Given the description of an element on the screen output the (x, y) to click on. 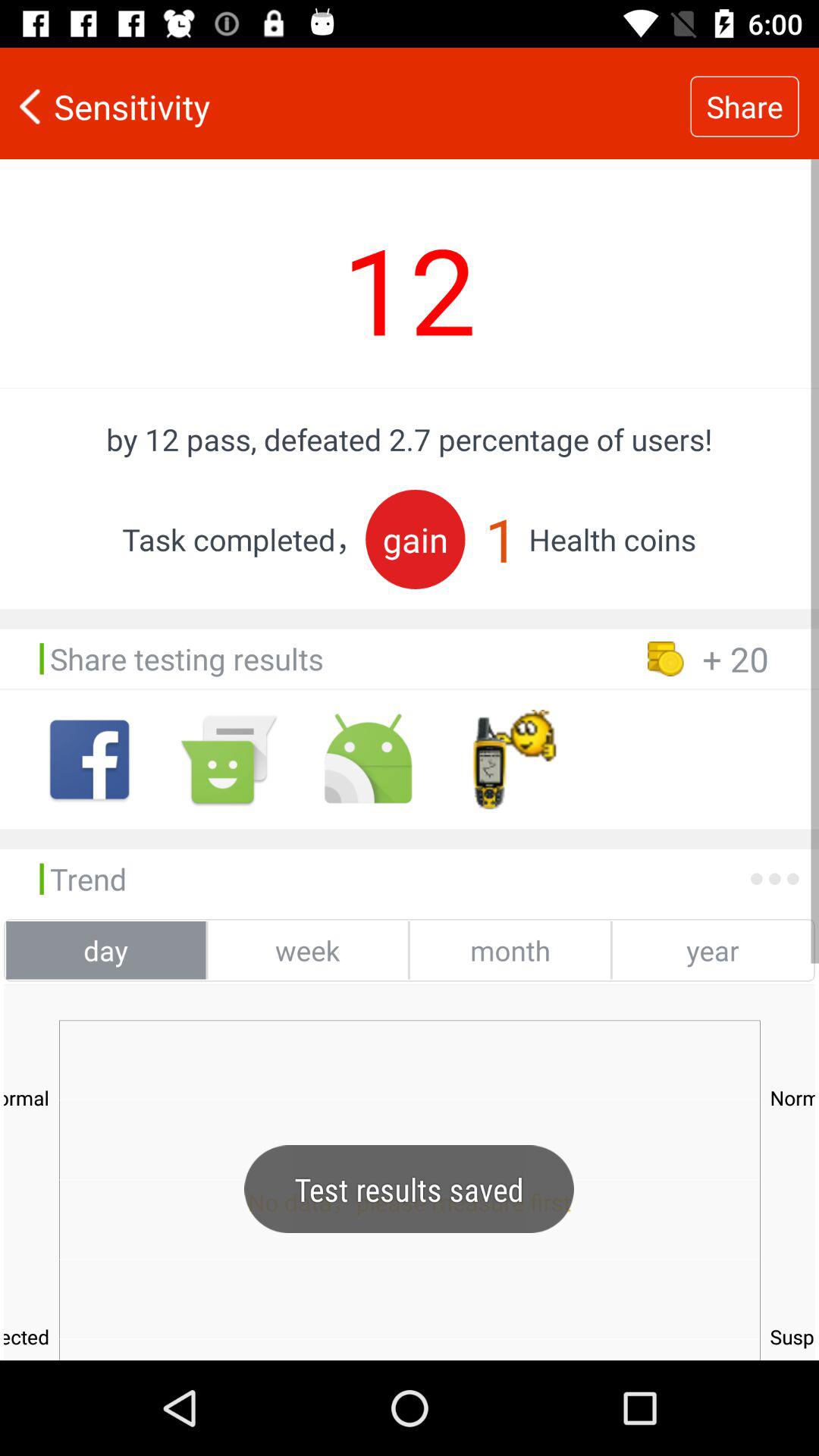
click the timer options (507, 759)
